Given the description of an element on the screen output the (x, y) to click on. 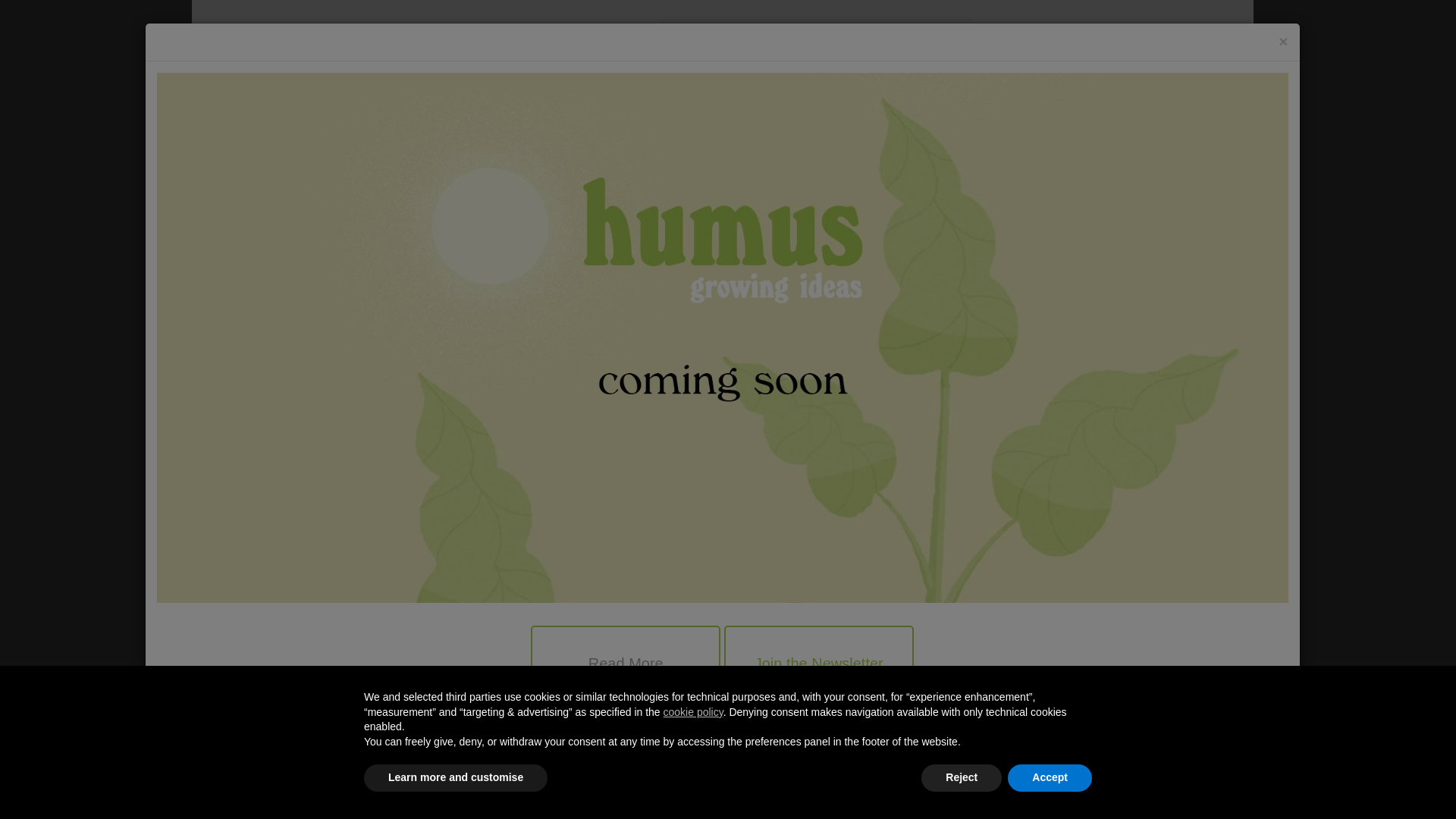
EN (1195, 36)
Share by Email (767, 734)
Landscaping (880, 364)
Landscape (876, 328)
HOME (284, 152)
Floornature (357, 65)
Observatorium (885, 309)
Landscaping (341, 792)
PROJECTS (349, 152)
Wood (863, 346)
Pavilions (930, 328)
